Given the description of an element on the screen output the (x, y) to click on. 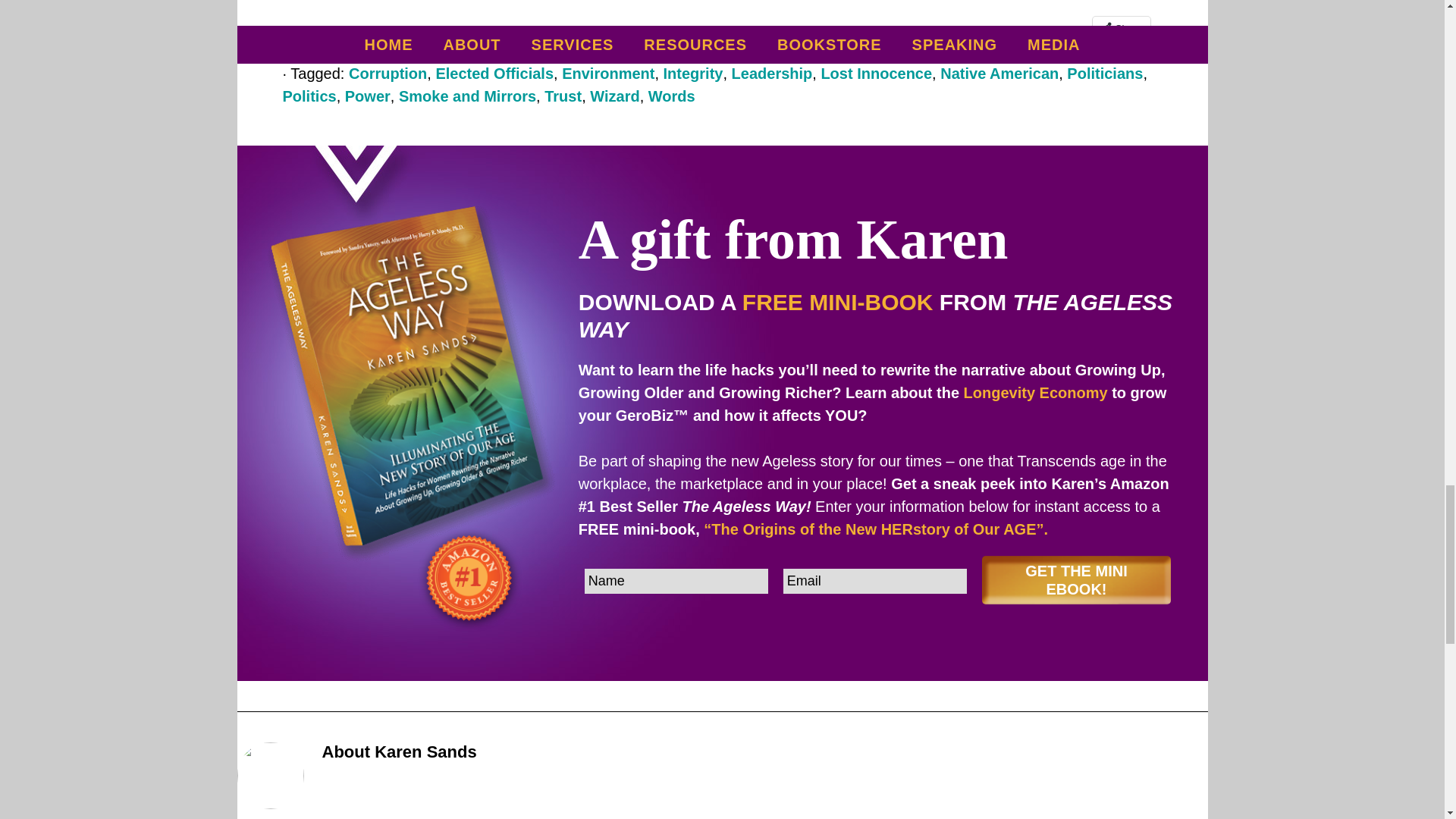
Share (1121, 27)
Get the Mini eBook! (1076, 580)
